Given the description of an element on the screen output the (x, y) to click on. 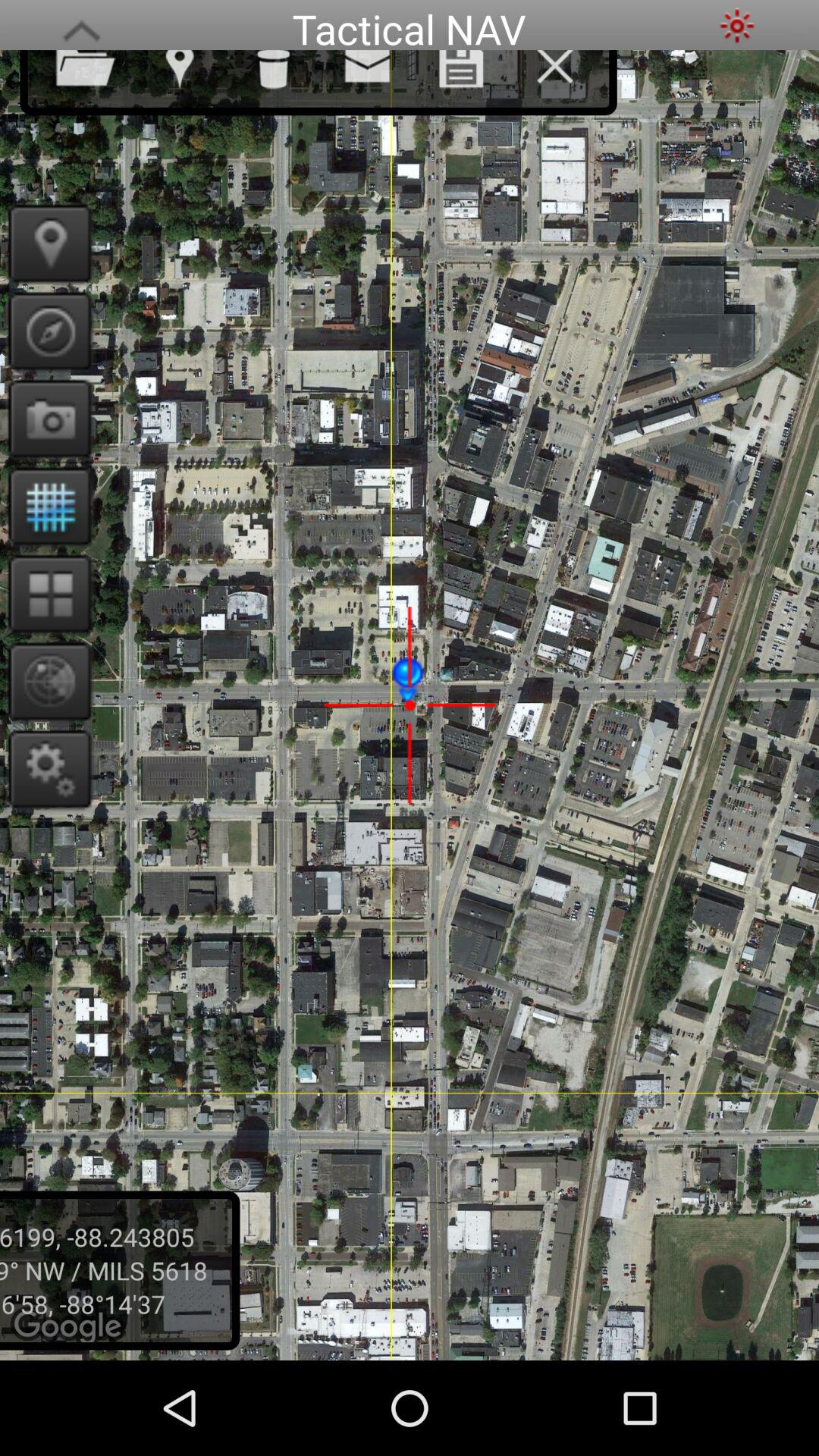
orientation scale (45, 330)
